Given the description of an element on the screen output the (x, y) to click on. 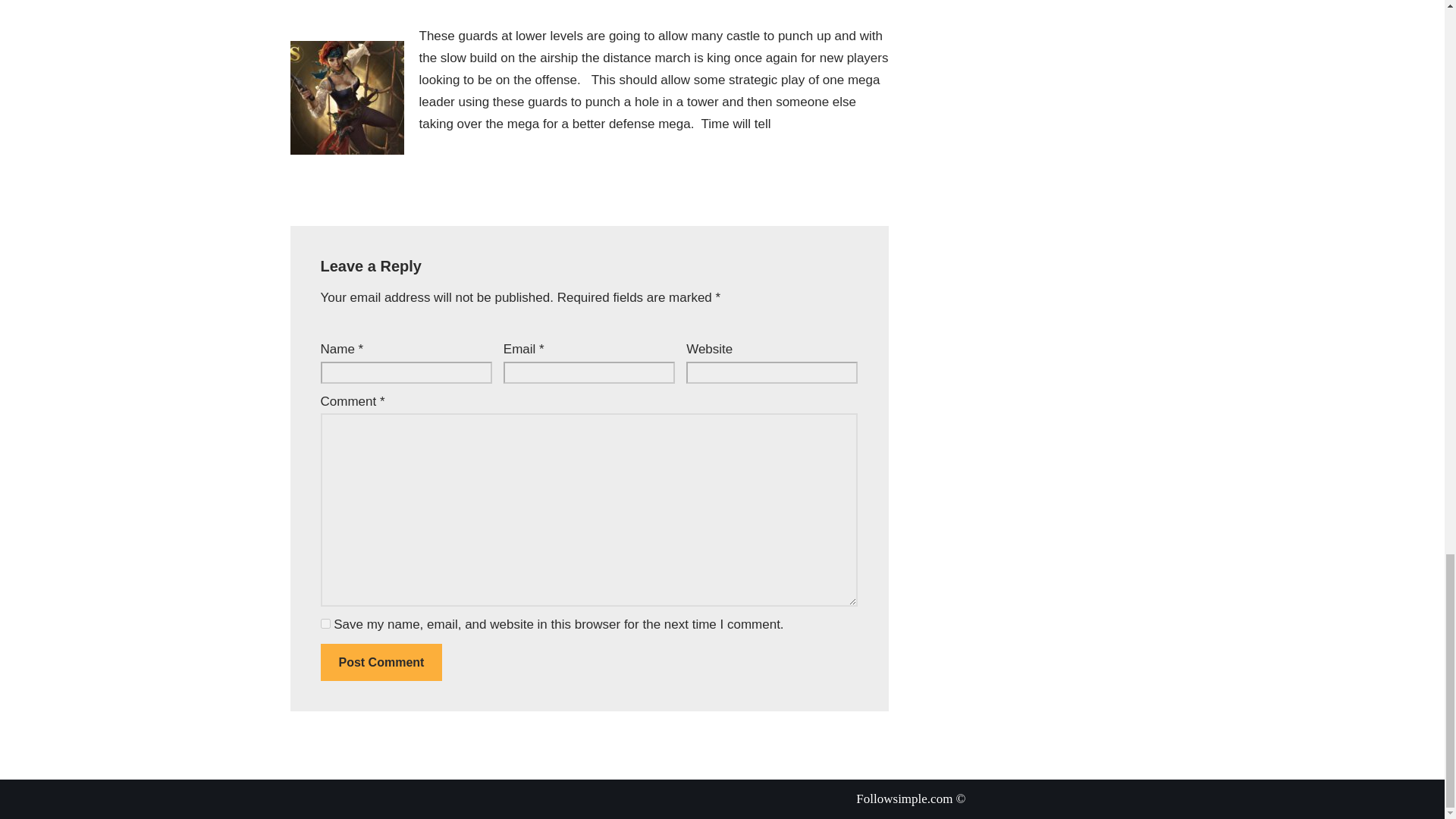
yes (325, 623)
Post Comment (381, 662)
Post Comment (381, 662)
